Given the description of an element on the screen output the (x, y) to click on. 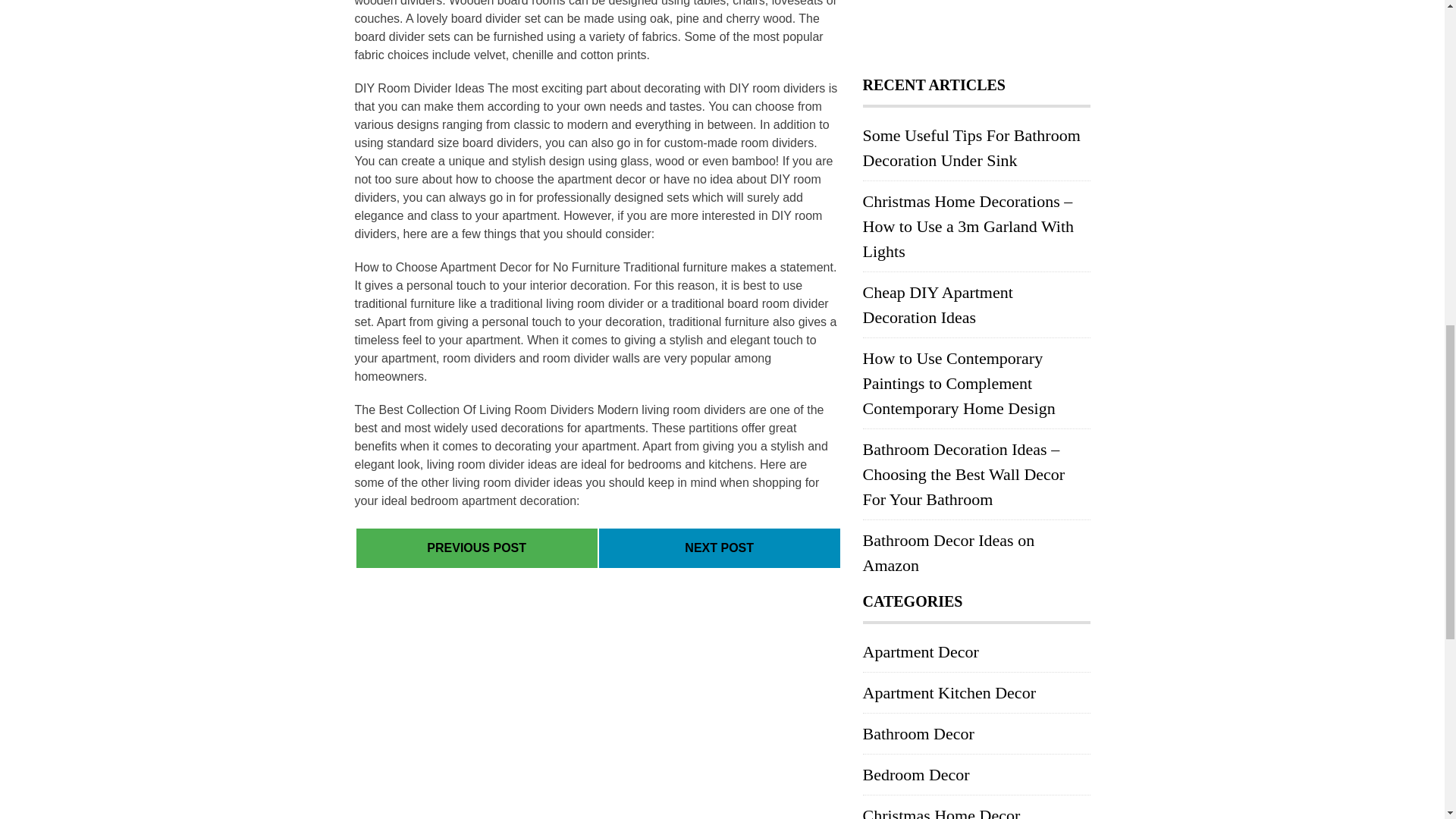
Bedroom Decor (916, 773)
Bathroom Decor (918, 732)
Advertisement (976, 30)
NEXT POST (719, 548)
Apartment Decor (920, 651)
PREVIOUS POST (476, 548)
Bathroom Decor Ideas on Amazon (949, 552)
What is the Best Flocked Christmas Tree? (476, 547)
Traditional Dining Room Decor (718, 547)
Apartment Kitchen Decor (949, 692)
